Given the description of an element on the screen output the (x, y) to click on. 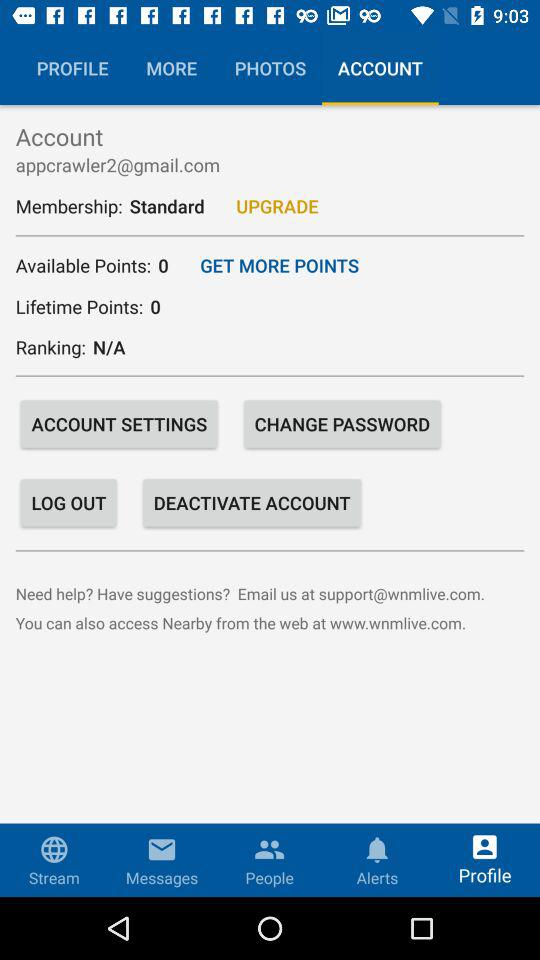
scroll to upgrade icon (277, 206)
